Given the description of an element on the screen output the (x, y) to click on. 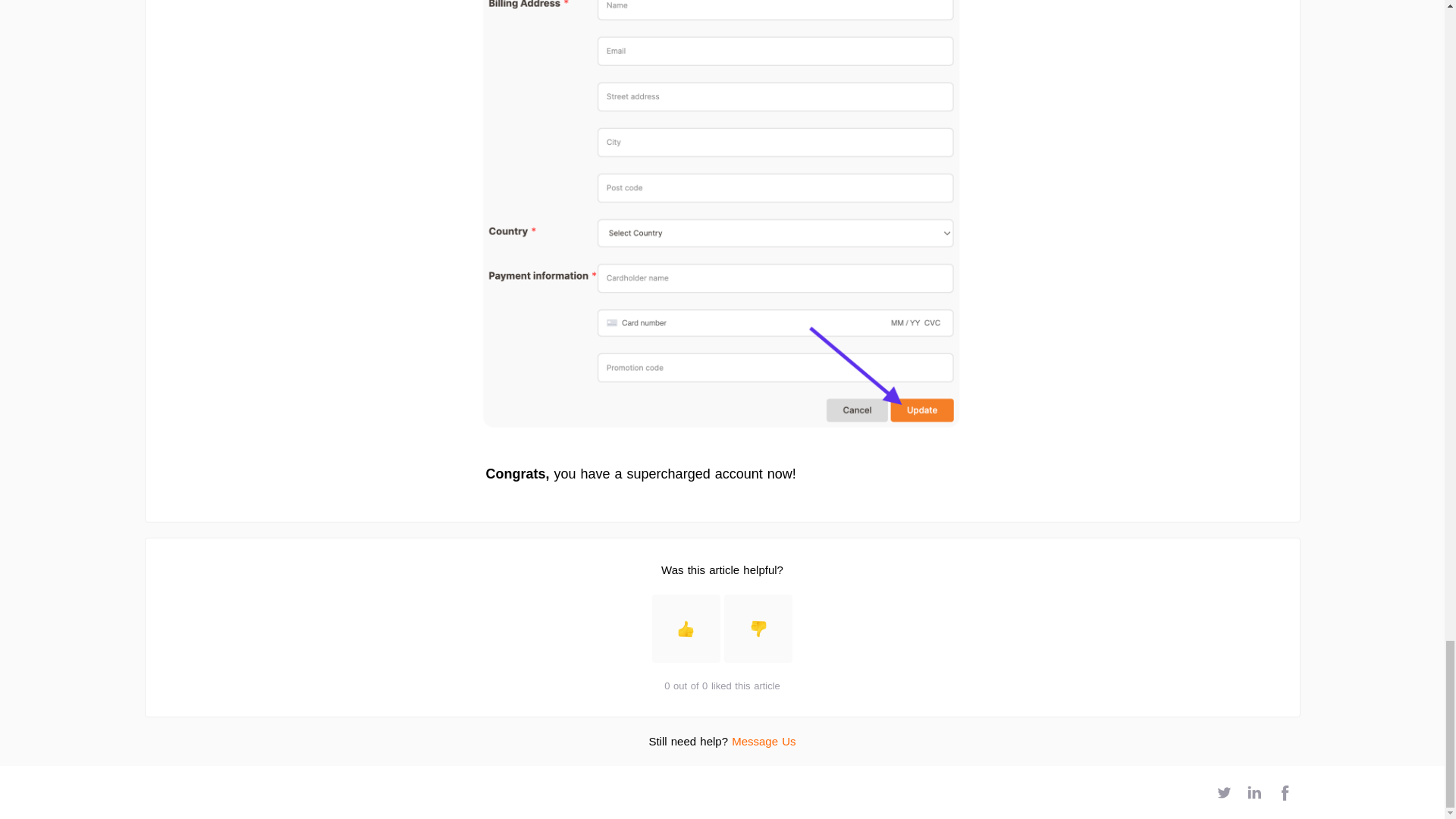
Message Us (763, 740)
